Given the description of an element on the screen output the (x, y) to click on. 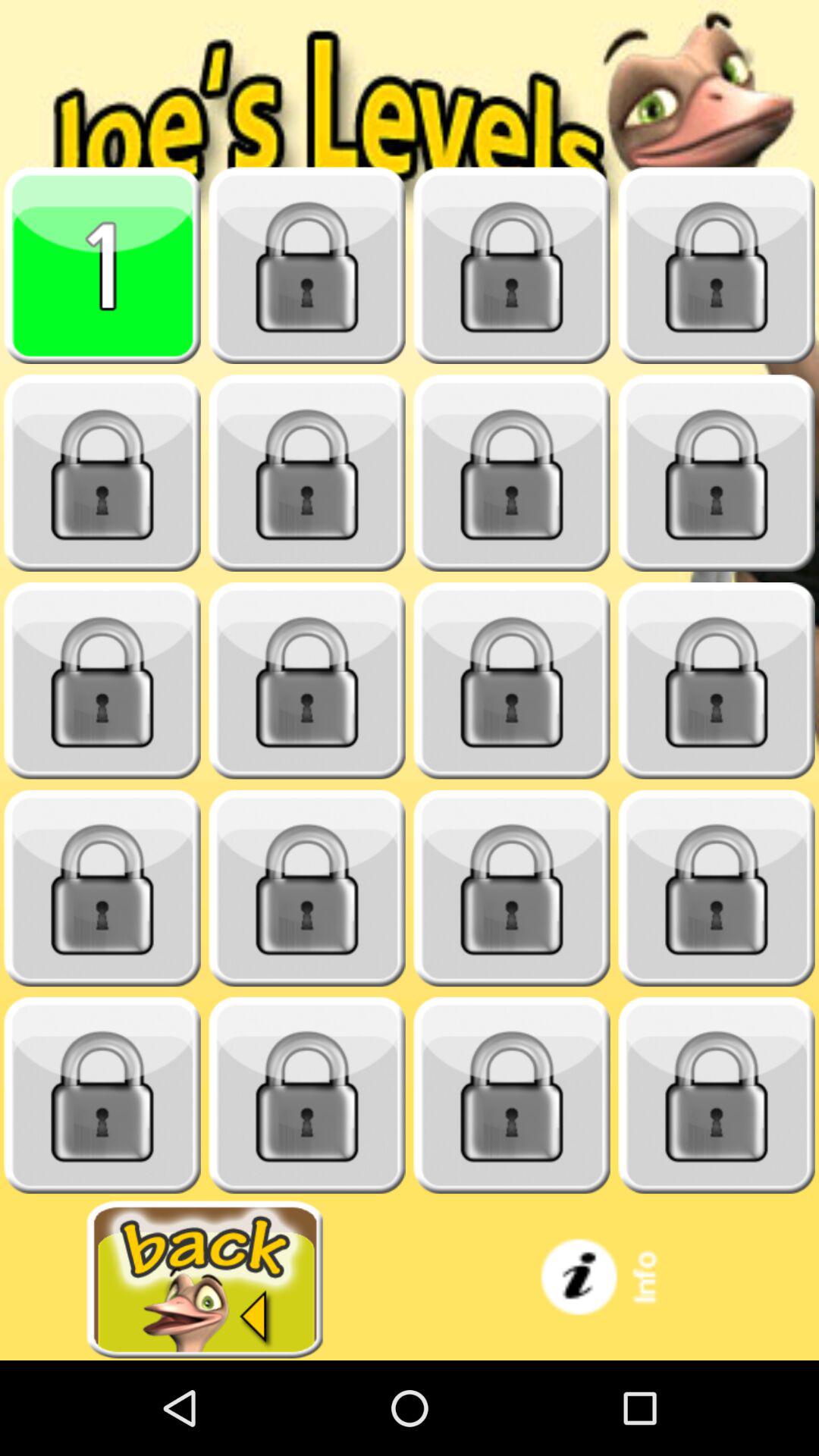
locked (716, 1094)
